Given the description of an element on the screen output the (x, y) to click on. 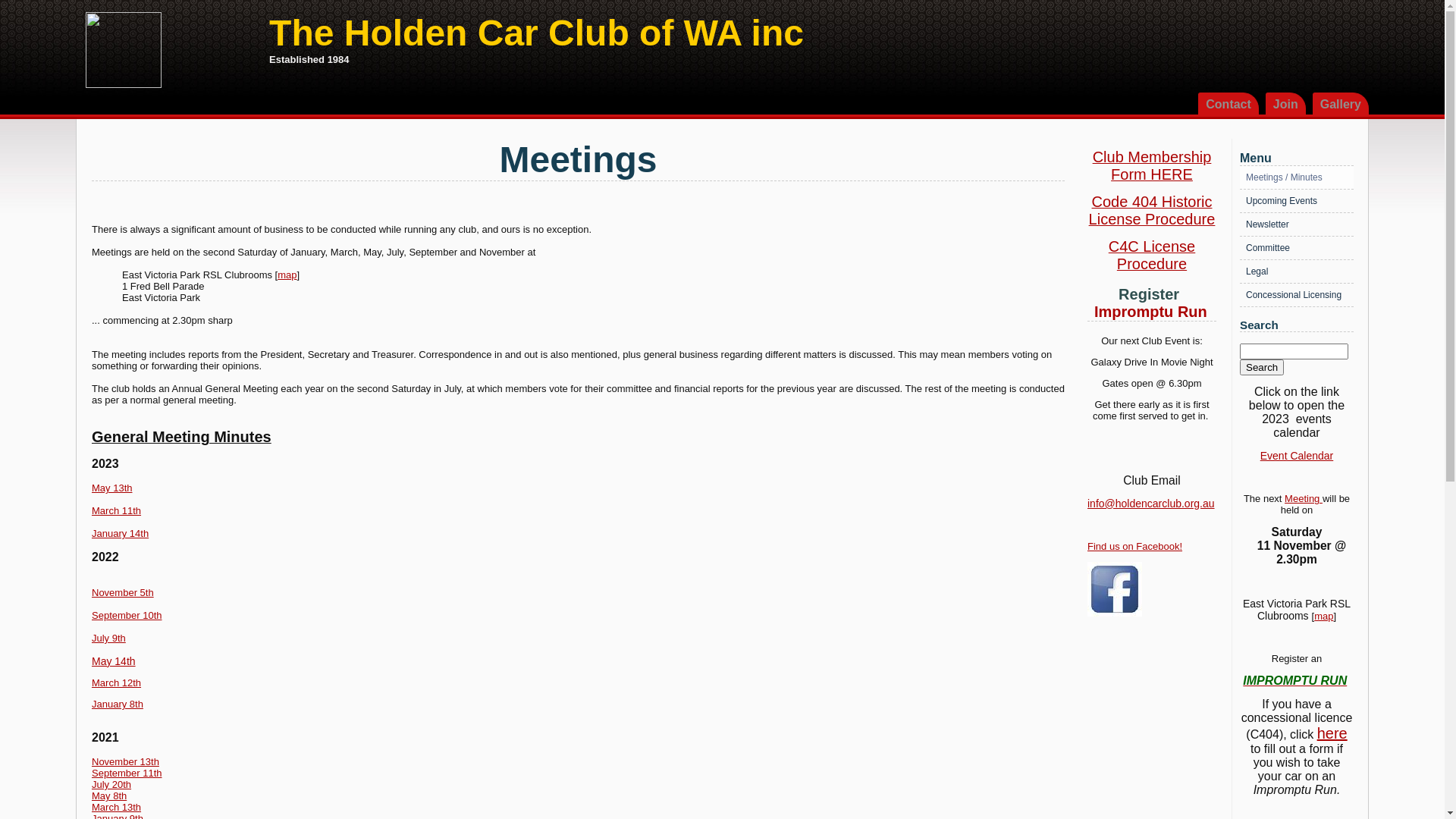
Event Calendar Element type: text (1296, 455)
info@holdencarclub.org.au Element type: text (1150, 503)
Meetings / Minutes Element type: text (1296, 177)
March 12th Element type: text (116, 682)
The Holden Car Club of WA inc Element type: text (536, 32)
IMPROMPTU RUN Element type: text (1294, 680)
Newsletter Element type: text (1296, 224)
July 20th Element type: text (111, 784)
C4C License Procedure Element type: text (1151, 256)
here Element type: text (1332, 732)
Legal Element type: text (1296, 271)
March 13th Element type: text (116, 806)
Register Element type: text (1148, 293)
November 5th Element type: text (122, 592)
map Element type: text (1323, 615)
Concessional Licensing Element type: text (1296, 295)
Join Element type: text (1285, 103)
January 14th Element type: text (119, 533)
Gallery Element type: text (1340, 103)
Committee Element type: text (1296, 248)
November 13th Element type: text (125, 761)
May 8th Element type: text (108, 795)
May 13th Element type: text (111, 487)
Code 404 Historic License Procedure Element type: text (1151, 211)
Contact Element type: text (1228, 103)
Meeting Element type: text (1303, 498)
September 10th Element type: text (126, 615)
May 14th Element type: text (113, 661)
March 11th Element type: text (116, 510)
Club Membership Form HERE Element type: text (1151, 167)
January 8th Element type: text (117, 703)
Search Element type: text (1261, 367)
  Element type: text (1180, 295)
Upcoming Events Element type: text (1296, 201)
July 9th Element type: text (108, 637)
Find us on Facebook! Element type: text (1134, 546)
Impromptu Run   Element type: text (1154, 309)
September 11th Element type: text (126, 772)
map Element type: text (286, 274)
